Given the description of an element on the screen output the (x, y) to click on. 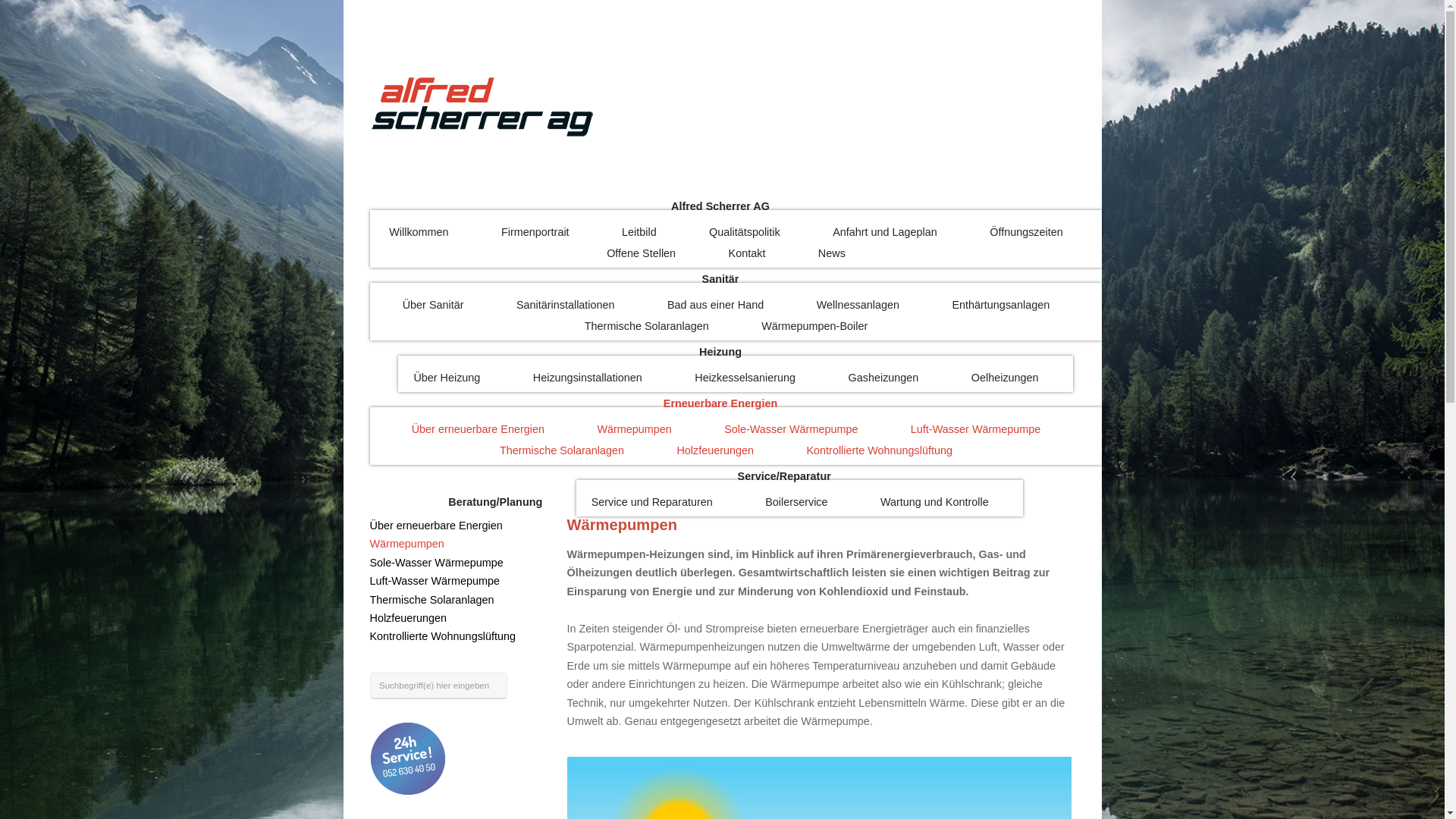
Alfred Scherrer AG Element type: text (720, 206)
Beratung/Planung Element type: text (495, 501)
Heizungsinstallationen Element type: text (587, 381)
Erneuerbare Energien Element type: text (720, 403)
Offene Stellen Element type: text (640, 256)
Thermische Solaranlagen Element type: text (432, 599)
Anfahrt und Lageplan Element type: text (884, 235)
Wartung und Kontrolle Element type: text (934, 505)
Thermische Solaranlagen Element type: text (646, 329)
Service und Reparaturen Element type: text (651, 505)
Wellnessanlagen Element type: text (857, 308)
Leitbild Element type: text (638, 235)
Willkommen Element type: text (418, 235)
News Element type: text (831, 256)
Holzfeuerungen Element type: text (714, 454)
Heizung Element type: text (720, 351)
Bad aus einer Hand Element type: text (715, 308)
Service/Reparatur Element type: text (784, 476)
Boilerservice Element type: text (796, 505)
Thermische Solaranlagen Element type: text (561, 454)
Holzfeuerungen Element type: text (408, 617)
Oelheizungen Element type: text (1004, 381)
Gasheizungen Element type: text (883, 381)
Kontakt Element type: text (746, 256)
Firmenportrait Element type: text (535, 235)
Heizkesselsanierung Element type: text (744, 381)
